Given the description of an element on the screen output the (x, y) to click on. 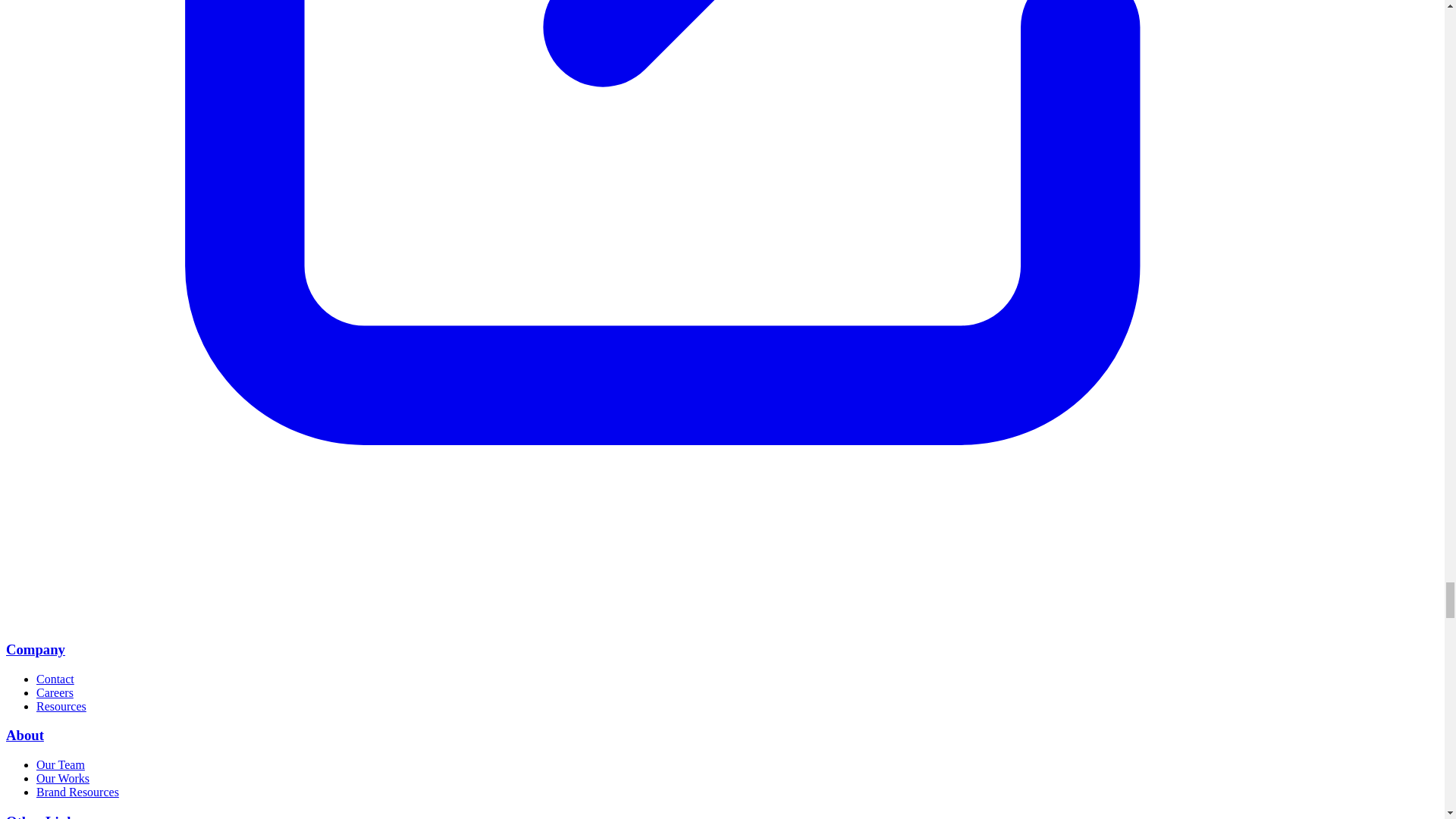
Careers (55, 692)
Company (35, 649)
Our Team (60, 764)
Contact (55, 678)
Brand Resources (77, 791)
Resources (60, 706)
Our Works (62, 778)
About (24, 734)
Other Links (42, 816)
